Given the description of an element on the screen output the (x, y) to click on. 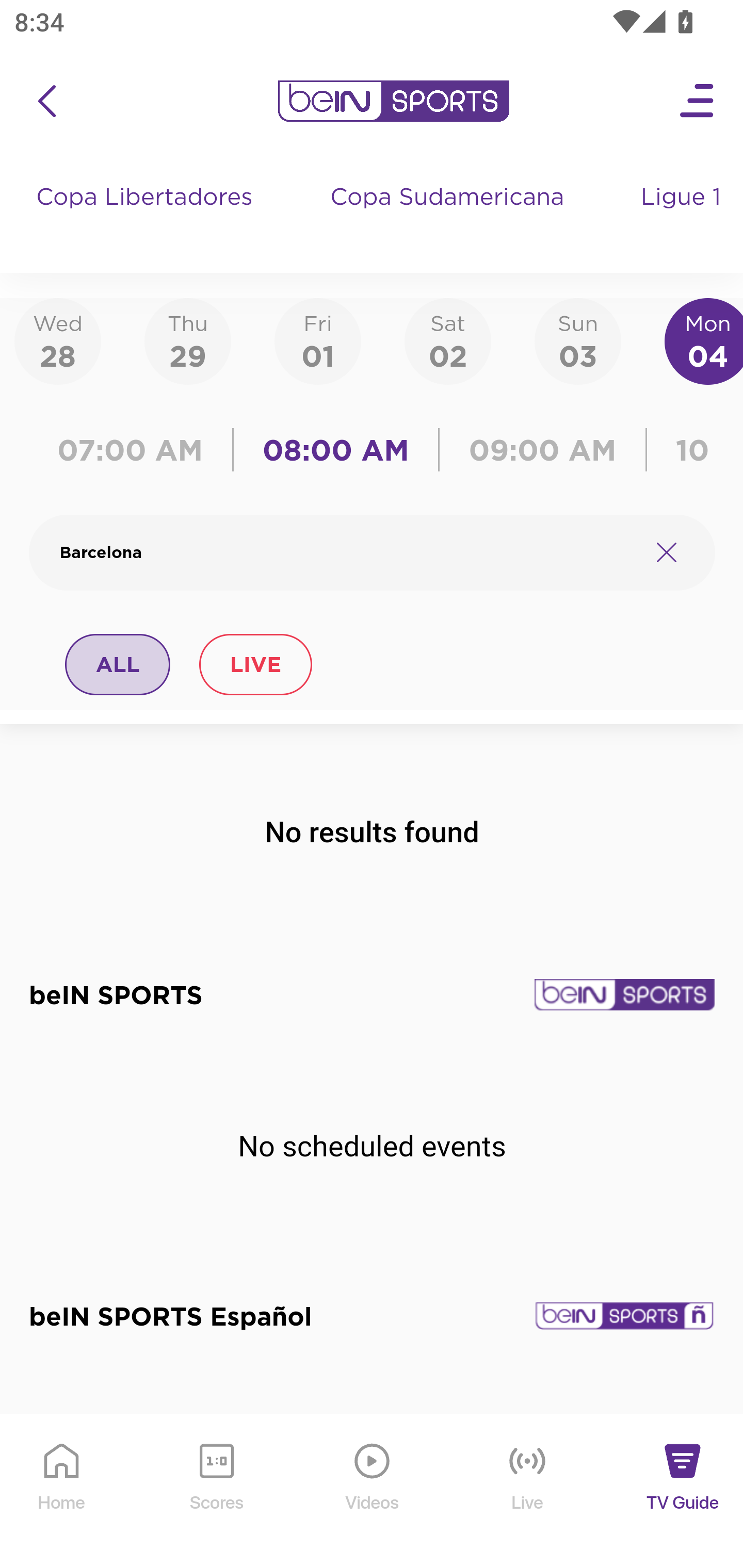
en-us?platform=mobile_android bein logo (392, 101)
icon back (46, 101)
Open Menu Icon (697, 101)
Copa Libertadores (146, 216)
Copa Sudamericana (448, 216)
Ligue 1 (682, 216)
Wed28 (58, 340)
Thu29 (187, 340)
Fri01 (318, 340)
Sat02 (447, 340)
Sun03 (578, 340)
Mon04 (703, 340)
07:00 AM (135, 449)
08:00 AM (336, 449)
09:00 AM (542, 449)
Barcelona (346, 552)
ALL (118, 663)
LIVE (255, 663)
Home Home Icon Home (61, 1491)
Scores Scores Icon Scores (216, 1491)
Videos Videos Icon Videos (372, 1491)
TV Guide TV Guide Icon TV Guide (682, 1491)
